Given the description of an element on the screen output the (x, y) to click on. 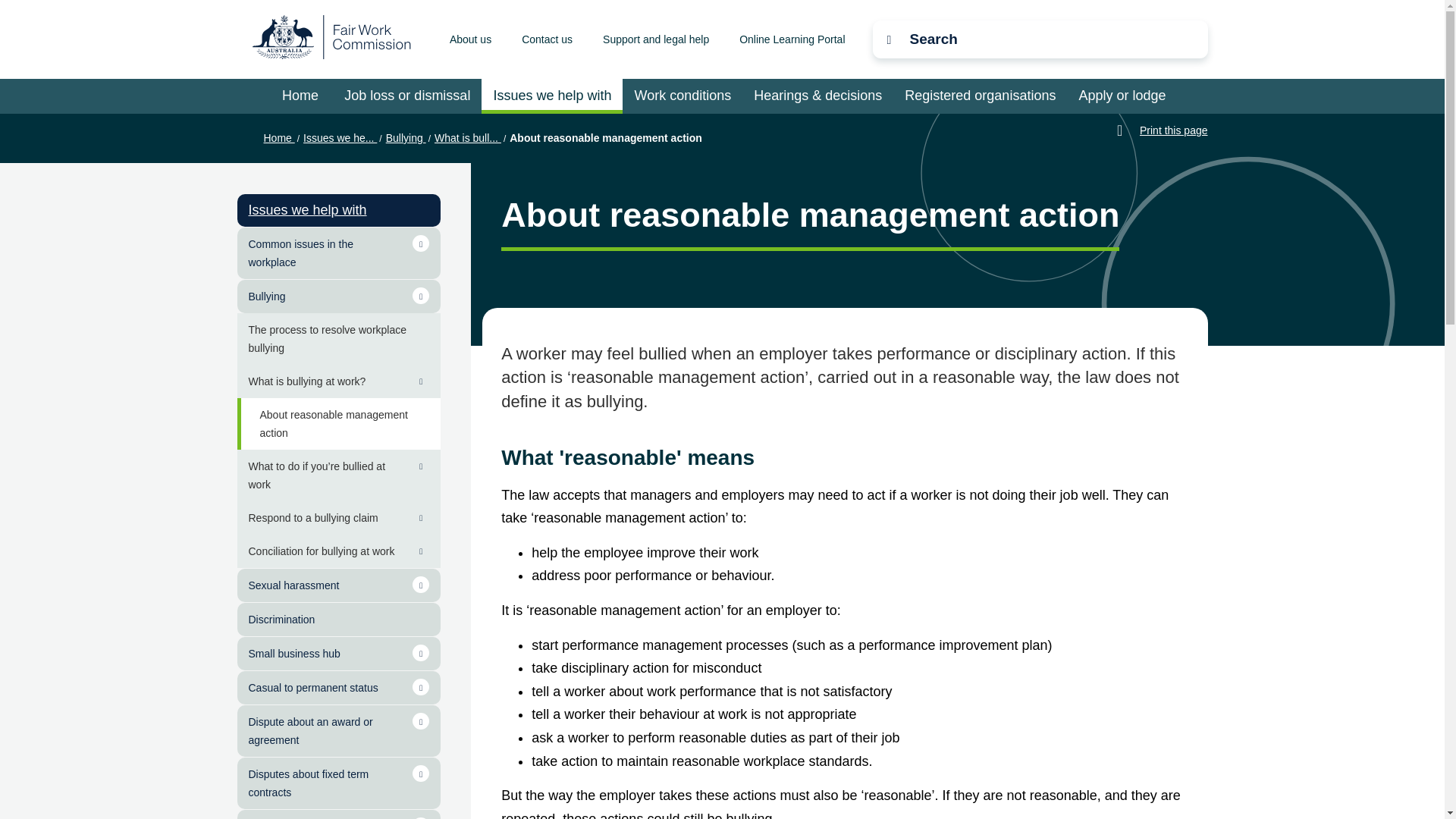
Online Learning Portal (791, 39)
Work conditions (682, 95)
Contact us (546, 39)
Support and legal help (655, 39)
Seach (1003, 37)
Home (299, 95)
Registered organisations (980, 95)
Job loss or dismissal (407, 95)
Toggle sub menu (420, 243)
Seach (382, 71)
